Given the description of an element on the screen output the (x, y) to click on. 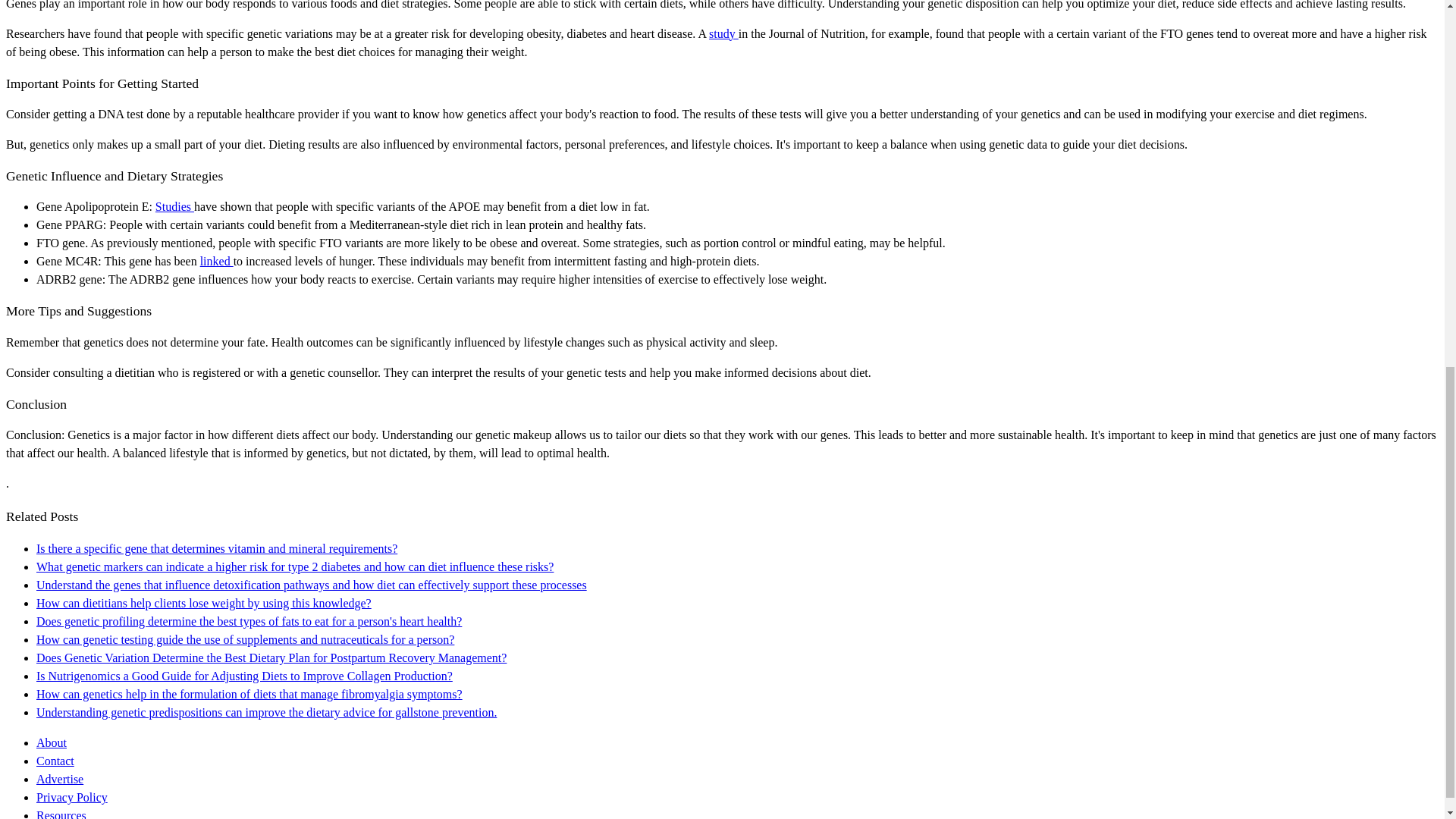
linked (216, 260)
Privacy Policy (71, 797)
